Given the description of an element on the screen output the (x, y) to click on. 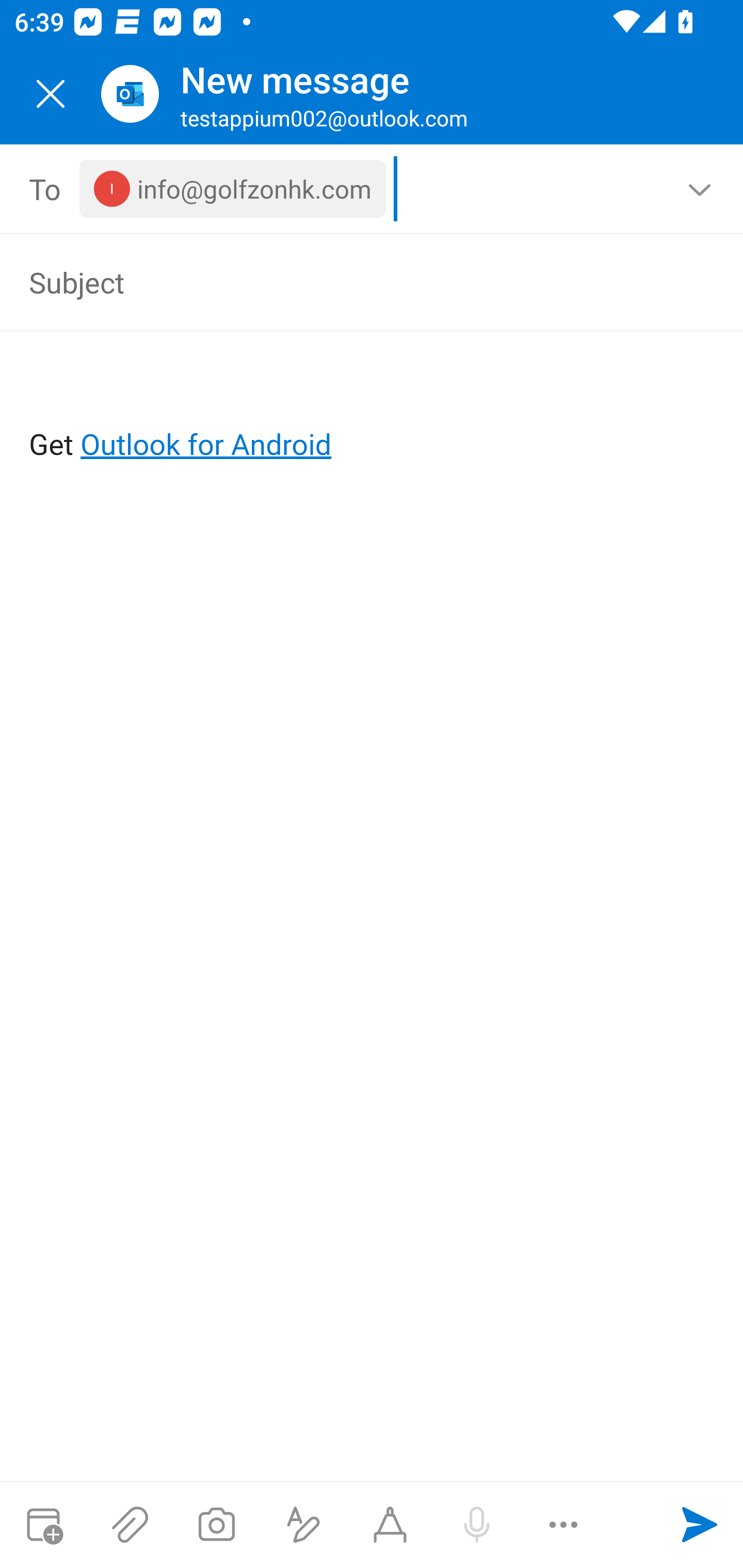
Close (50, 93)
Subject (342, 281)


Get Outlook for Android (372, 411)
Attach meeting (43, 1524)
Attach files (129, 1524)
Take a photo (216, 1524)
Show formatting options (303, 1524)
Start Ink compose (389, 1524)
More options (563, 1524)
Send (699, 1524)
